Given the description of an element on the screen output the (x, y) to click on. 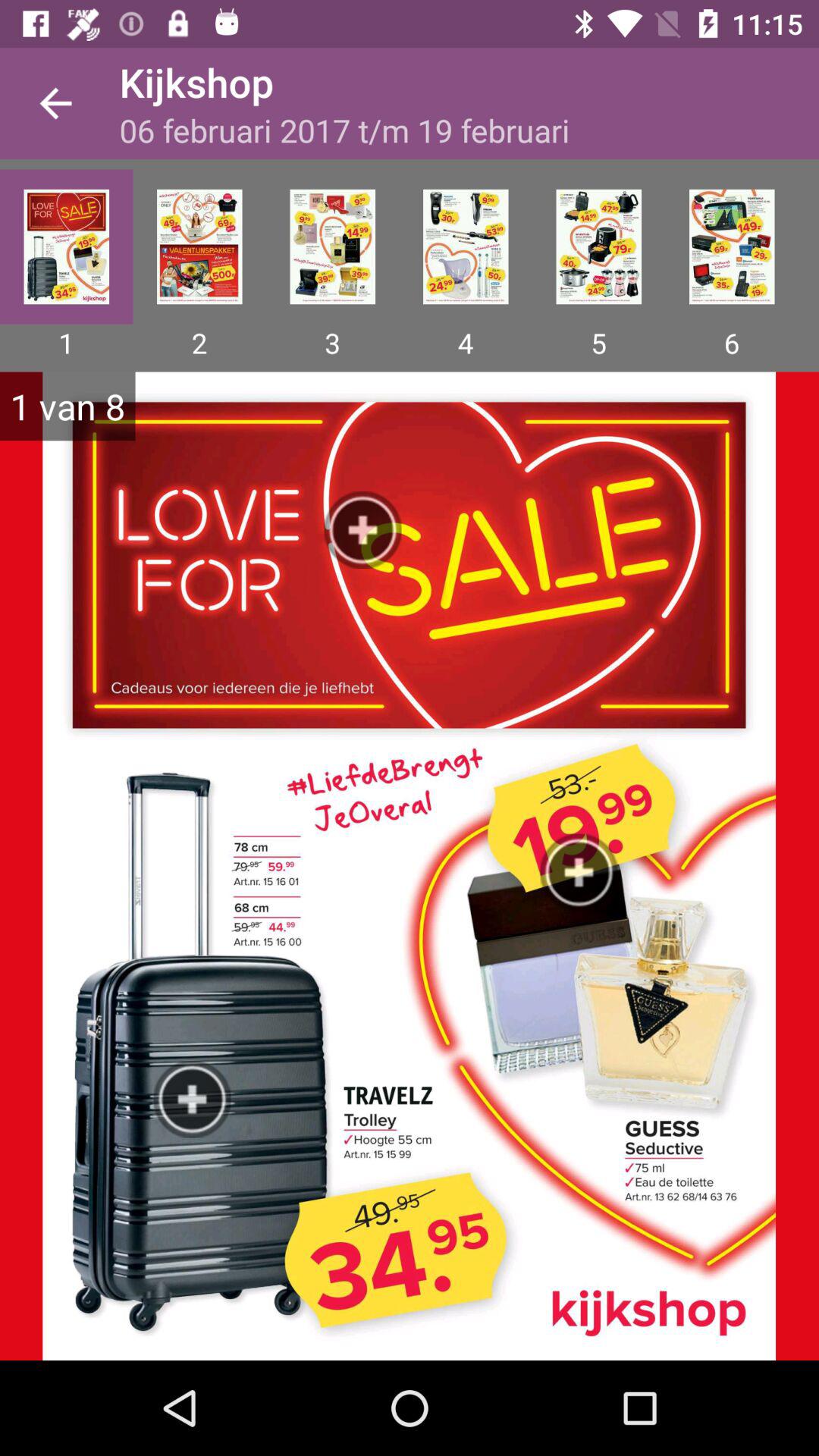
launch app to the left of the kijkshop icon (55, 103)
